Given the description of an element on the screen output the (x, y) to click on. 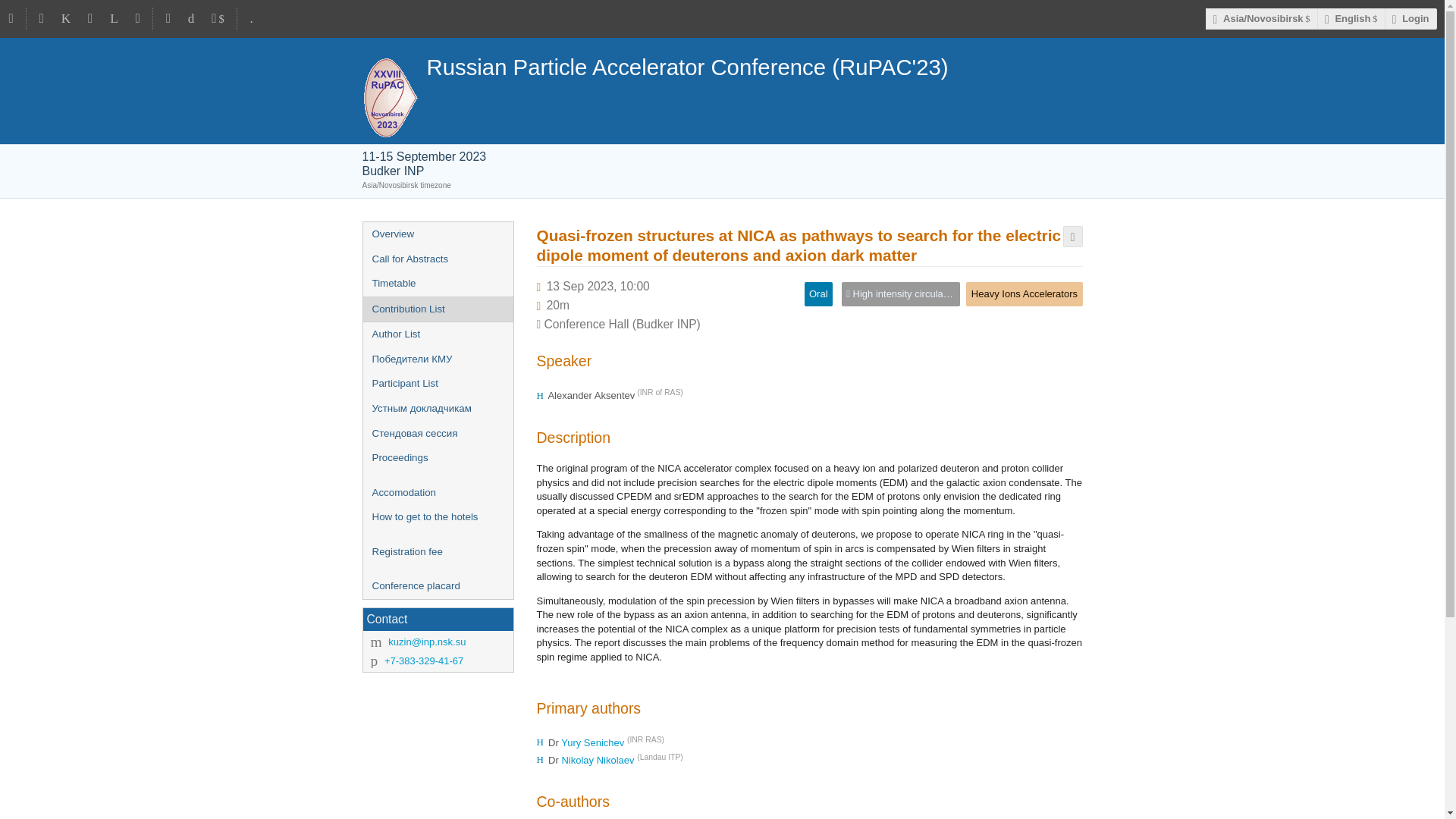
English (1350, 19)
Overview (437, 234)
Login (1410, 19)
Author List (437, 334)
Timetable (437, 283)
Contribution List (437, 309)
Call for Abstracts (437, 259)
Participant List (437, 383)
Duration (558, 305)
